Given the description of an element on the screen output the (x, y) to click on. 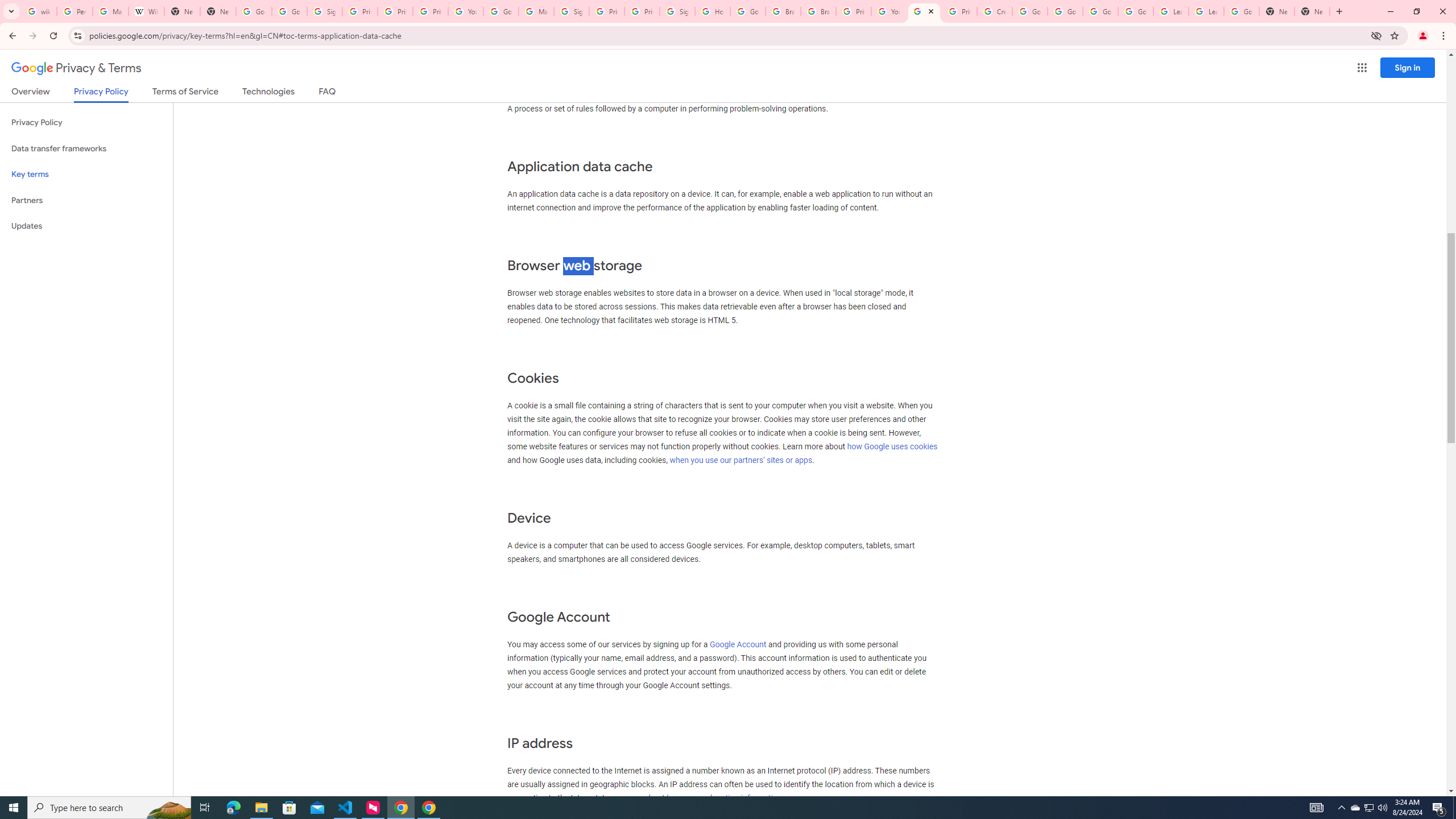
Google Account Help (501, 11)
YouTube (465, 11)
Create your Google Account (994, 11)
Sign in - Google Accounts (571, 11)
